Given the description of an element on the screen output the (x, y) to click on. 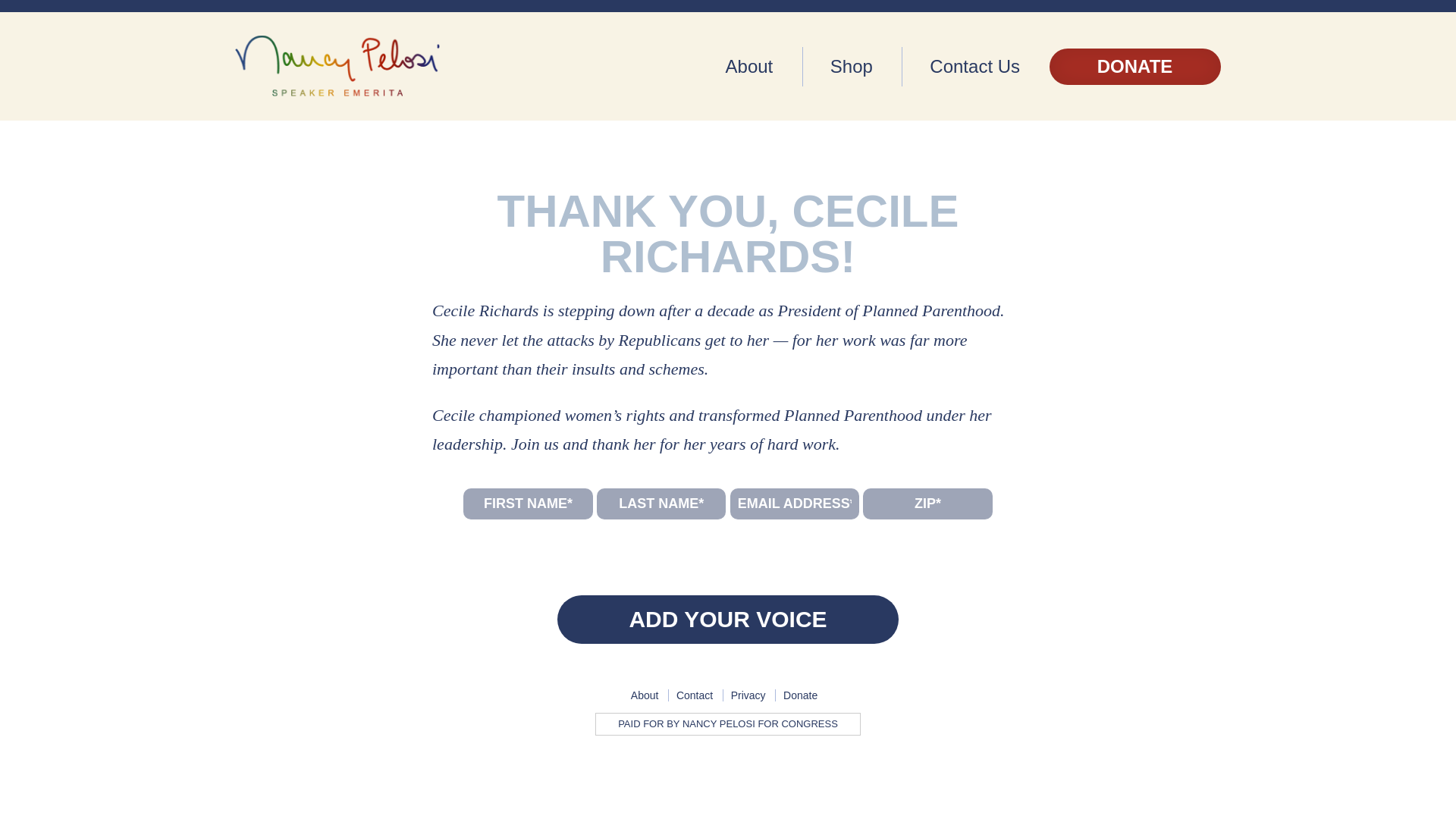
Add Your Voice (727, 619)
Contact Us (974, 66)
DONATE (1135, 66)
Contact (695, 695)
Shop (851, 66)
Donate (799, 695)
About (749, 66)
Add Your Voice (727, 619)
About (644, 695)
Privacy (747, 695)
